Given the description of an element on the screen output the (x, y) to click on. 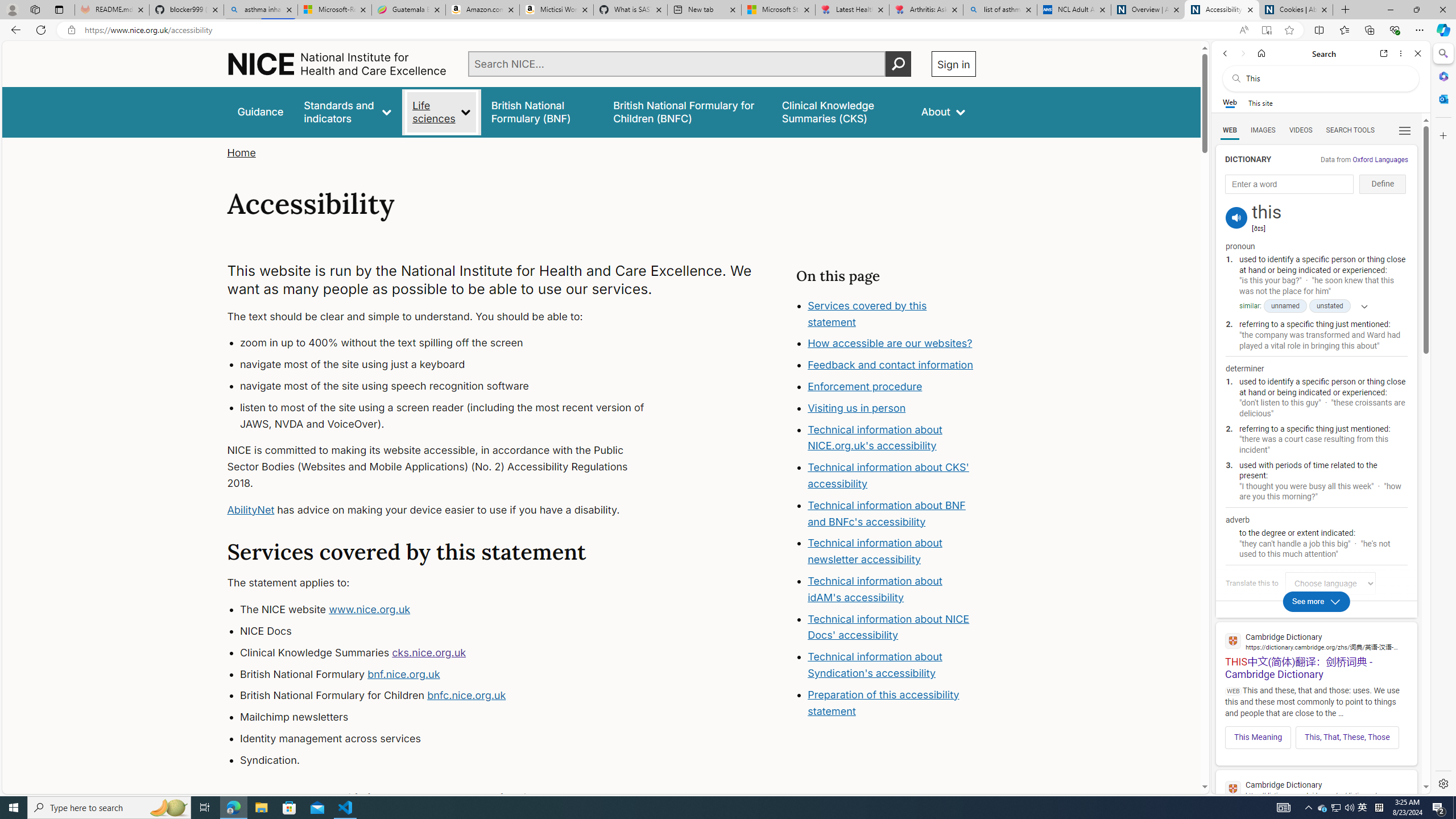
Identity management across services (452, 738)
Accessibility | NICE (1221, 9)
NICE Docs (452, 630)
Cookies | About | NICE (1295, 9)
Preparation of this accessibility statement (891, 702)
Enforcement procedure (865, 386)
